Given the description of an element on the screen output the (x, y) to click on. 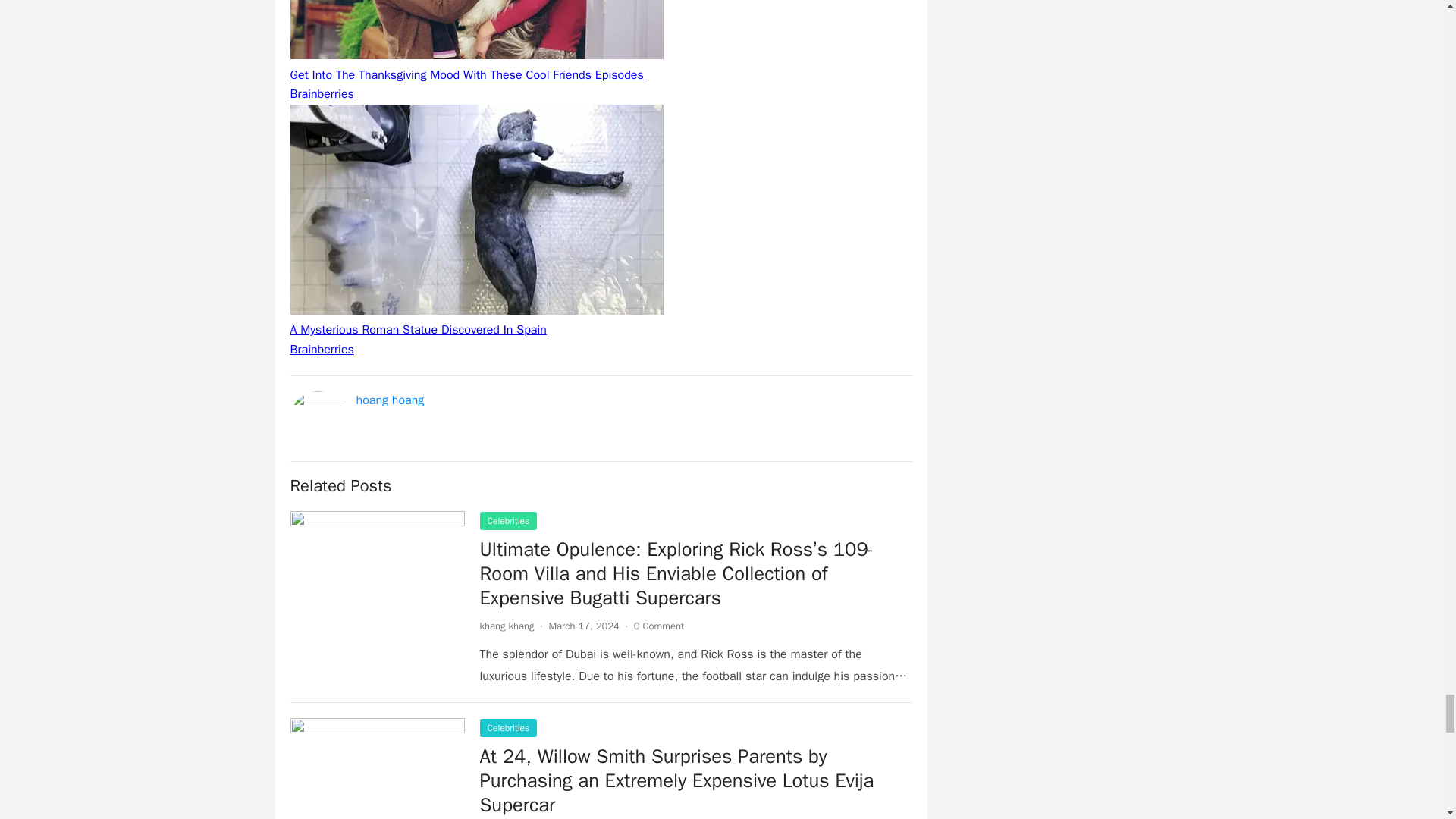
Celebrities (508, 728)
khang khang (506, 625)
Posts by khang khang (506, 625)
hoang hoang (390, 400)
0 Comment (658, 625)
Celebrities (508, 520)
